Given the description of an element on the screen output the (x, y) to click on. 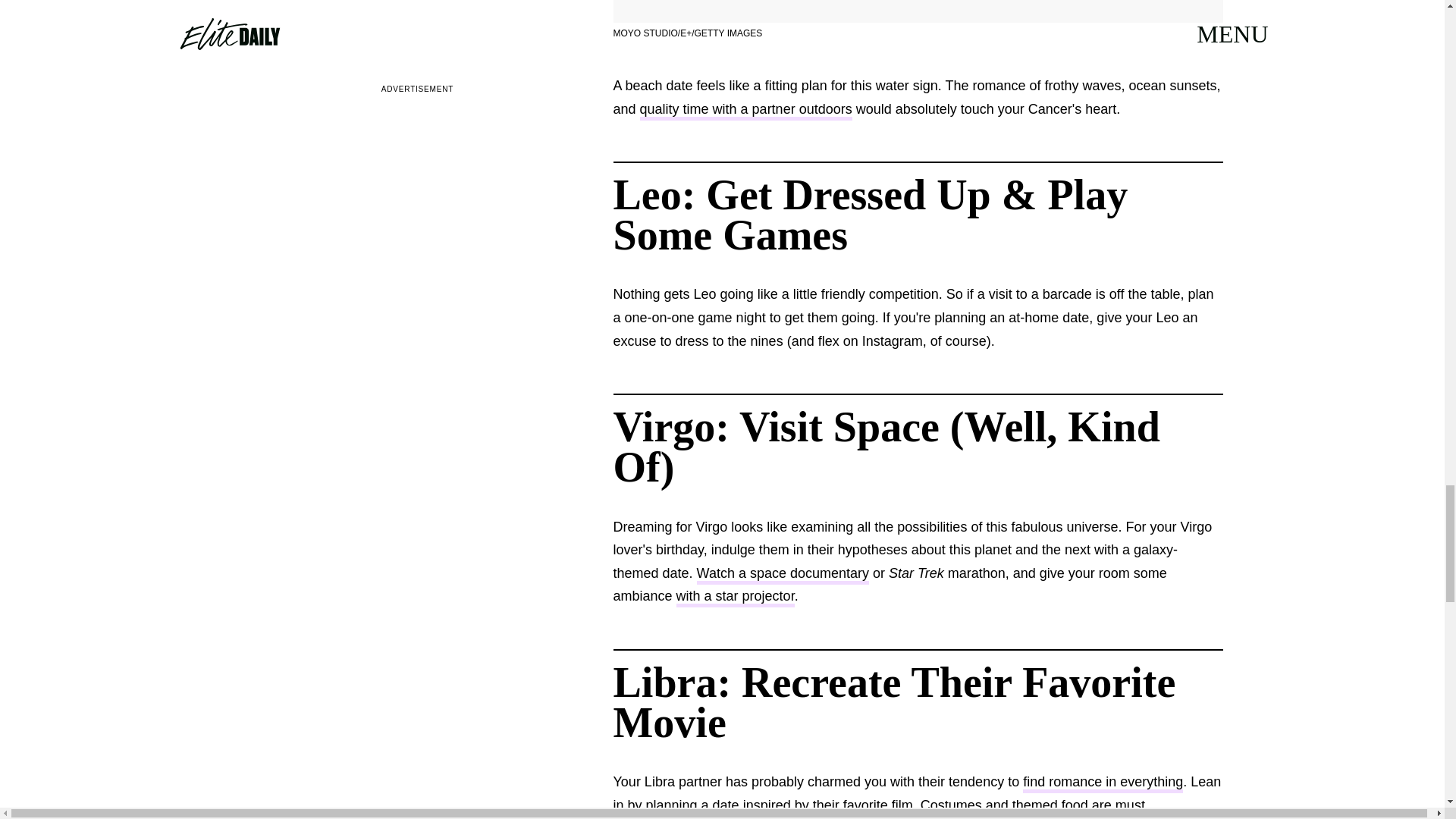
find romance in everything (1102, 783)
with a star projector (735, 597)
quality time with a partner outdoors (745, 110)
Watch a space documentary (783, 574)
